Given the description of an element on the screen output the (x, y) to click on. 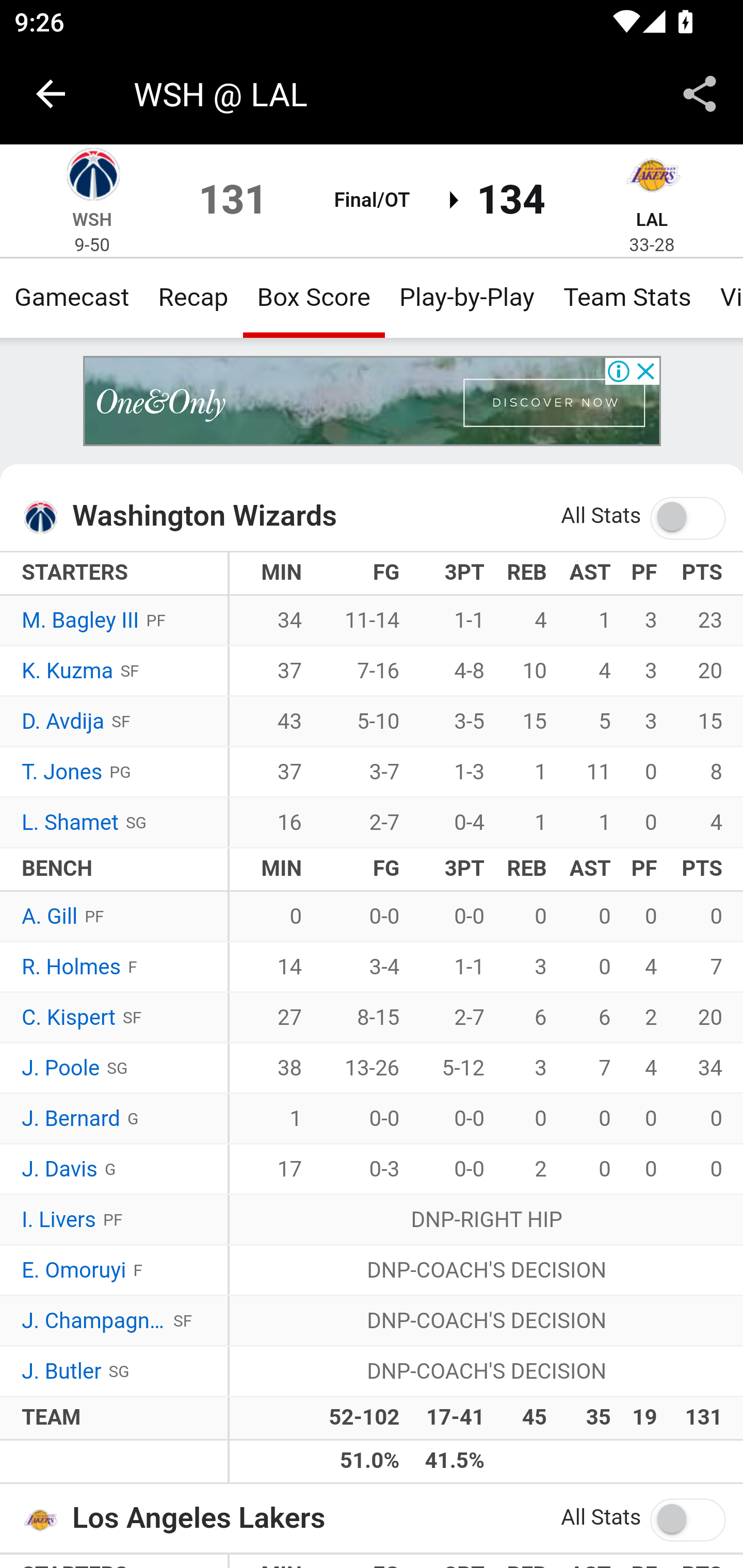
Navigate up (50, 93)
Share (699, 93)
Washington Wizards (91, 177)
Los Angeles Lakers (651, 177)
WSH (92, 219)
LAL (652, 219)
Gamecast (72, 296)
Recap (192, 296)
Box Score (314, 296)
Play-by-Play (466, 296)
Team Stats (627, 296)
Washington Wizards (46, 517)
M. Bagley III (81, 621)
K. Kuzma (67, 671)
D. Avdija (63, 722)
T. Jones (61, 772)
L. Shamet (69, 823)
A. Gill (50, 916)
R. Holmes (71, 968)
C. Kispert (68, 1018)
J. Poole (61, 1068)
J. Bernard (70, 1118)
J. Davis (59, 1170)
I. Livers (59, 1220)
E. Omoruyi (73, 1270)
J. Champagnie (94, 1321)
J. Butler (61, 1371)
Los Angeles Lakers (46, 1518)
